Given the description of an element on the screen output the (x, y) to click on. 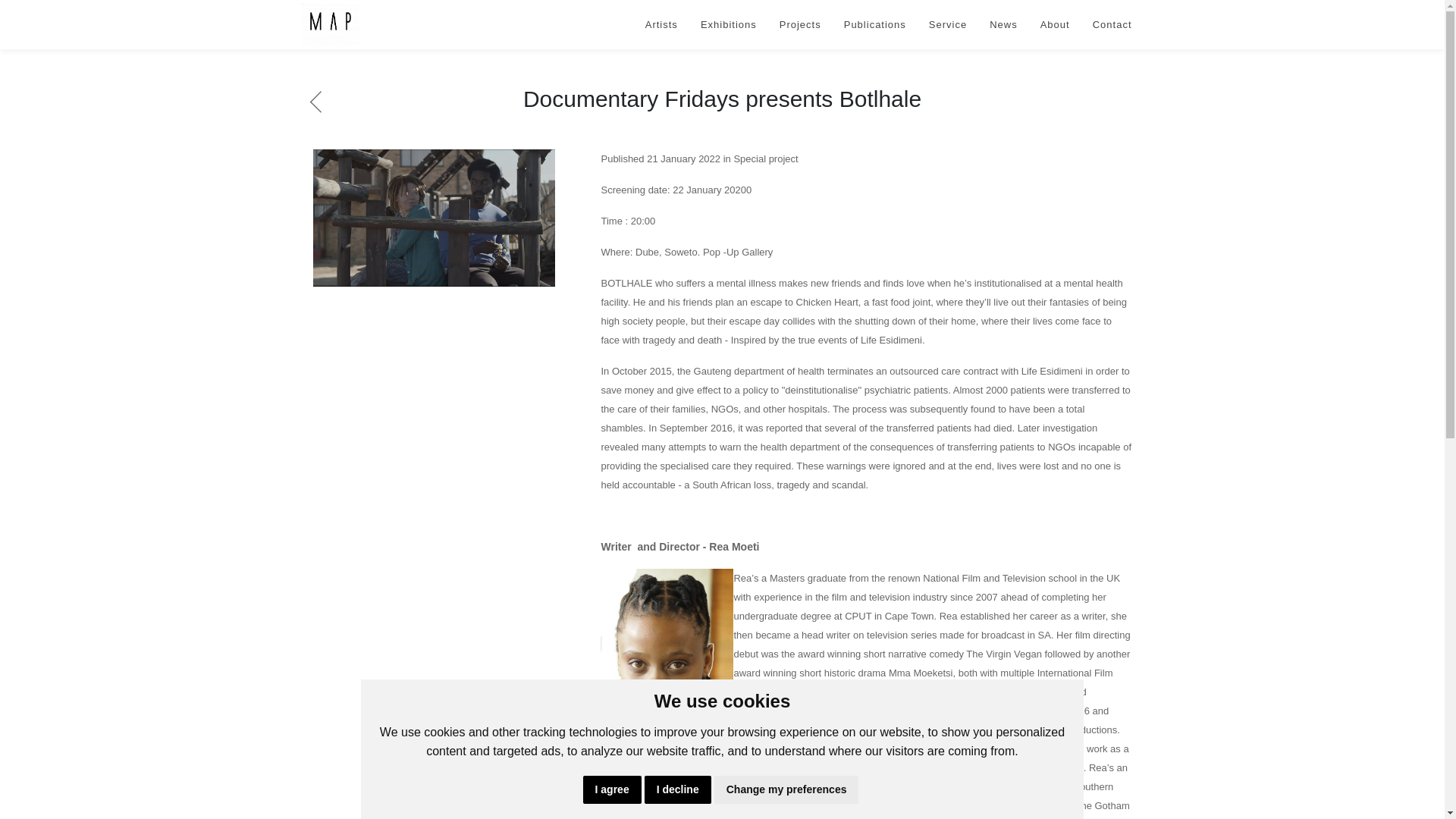
I agree (612, 789)
Exhibitions (728, 24)
Mashumi Art Projects (330, 24)
Publications (874, 24)
I decline (678, 789)
Change my preferences (786, 789)
